Given the description of an element on the screen output the (x, y) to click on. 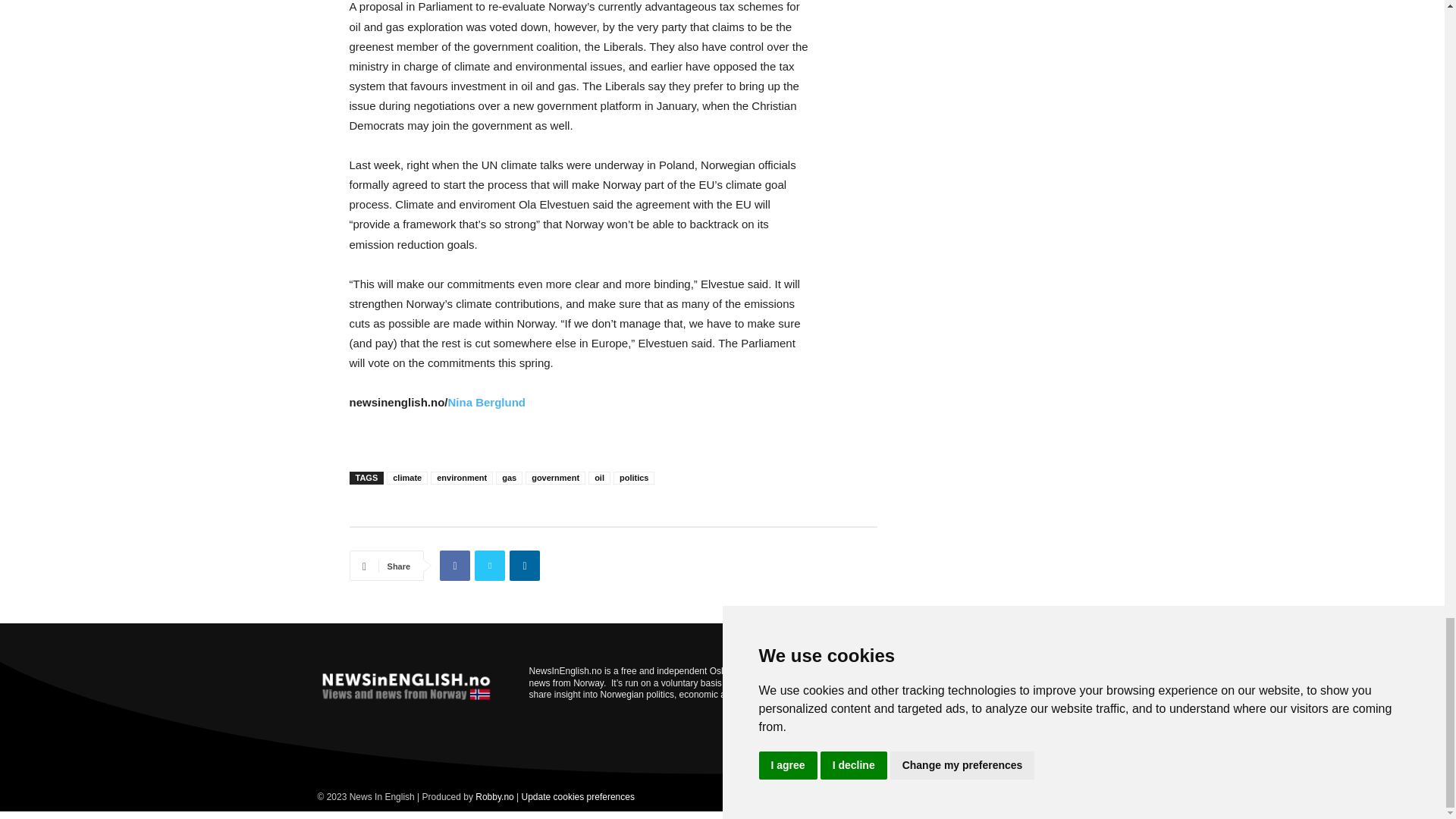
Linkedin (524, 565)
Facebook (454, 565)
Twitter (489, 565)
